Given the description of an element on the screen output the (x, y) to click on. 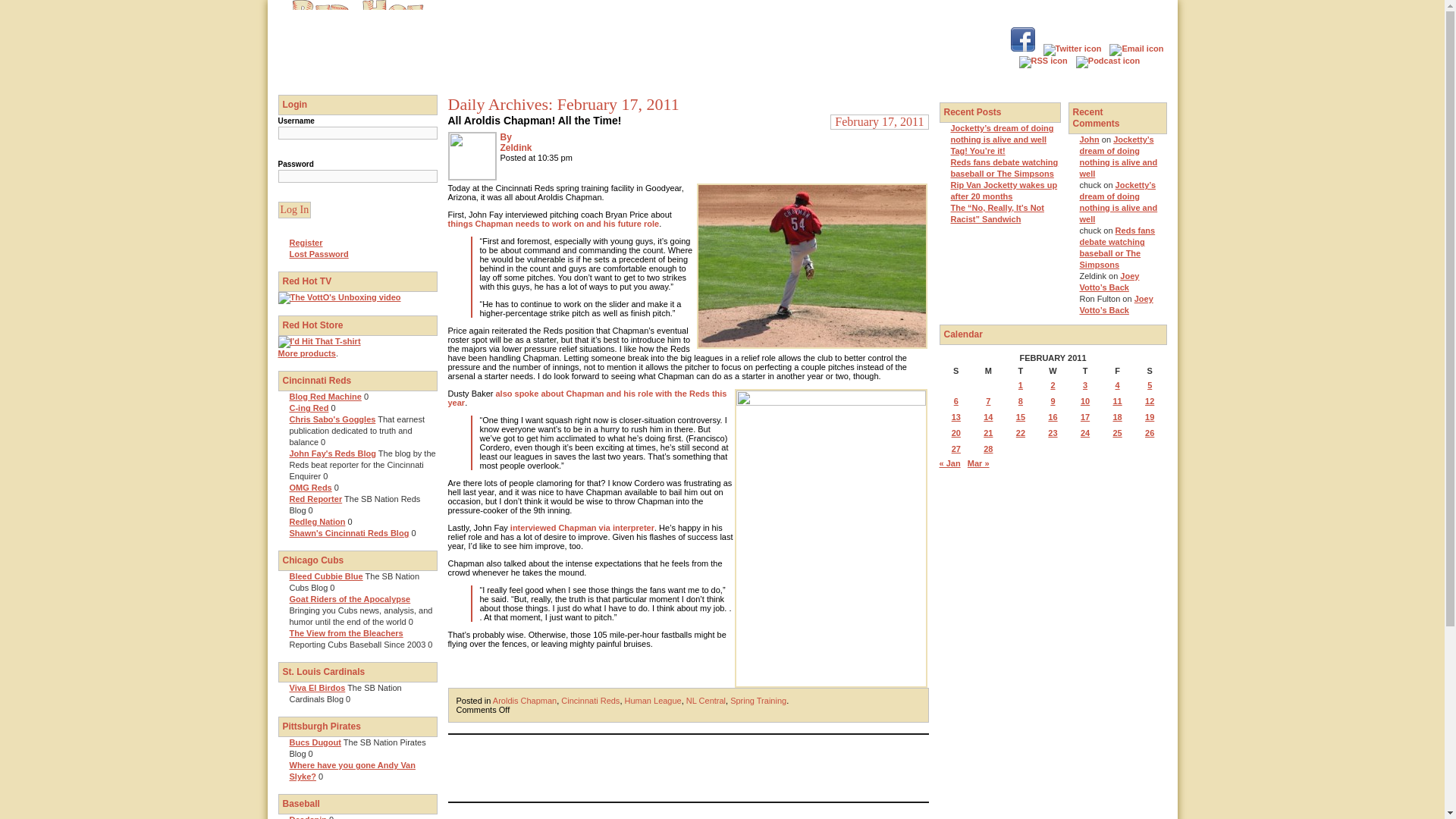
Red Hot Mama (357, 79)
Bucs Dugout (314, 741)
Contact RHM (1136, 48)
NL Central (705, 700)
Human League (652, 700)
C-ing Red (309, 407)
The SB Nation Pirates Blog (314, 741)
Log In (294, 209)
The SB Nation Reds Blog (315, 498)
Follow RHM on Twitter (1072, 48)
